Given the description of an element on the screen output the (x, y) to click on. 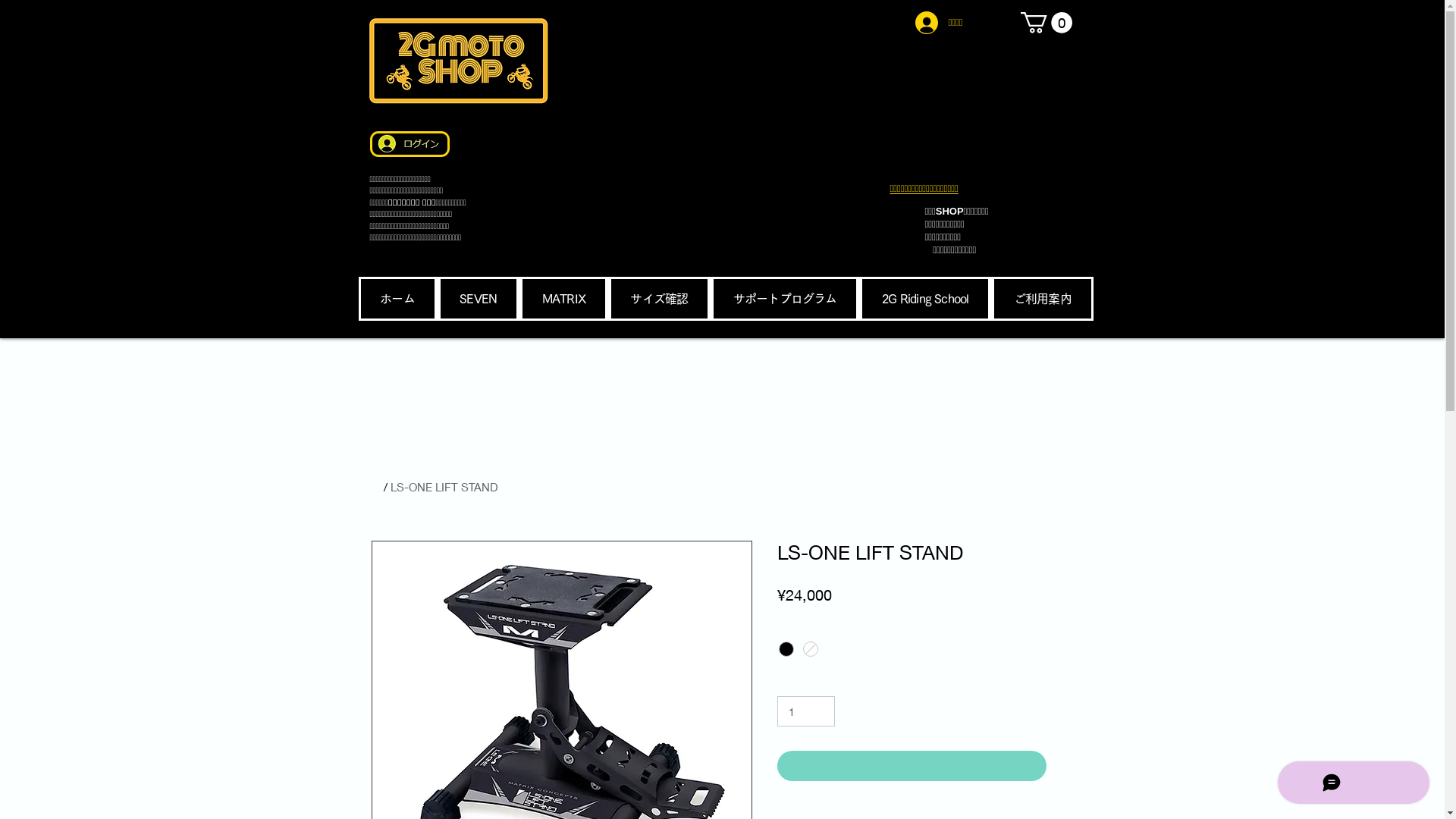
MATRIX Element type: text (563, 298)
0 Element type: text (1046, 22)
LS-ONE LIFT STAND Element type: text (443, 486)
SEVEN Element type: text (478, 298)
2G Riding School Element type: text (925, 298)
